Given the description of an element on the screen output the (x, y) to click on. 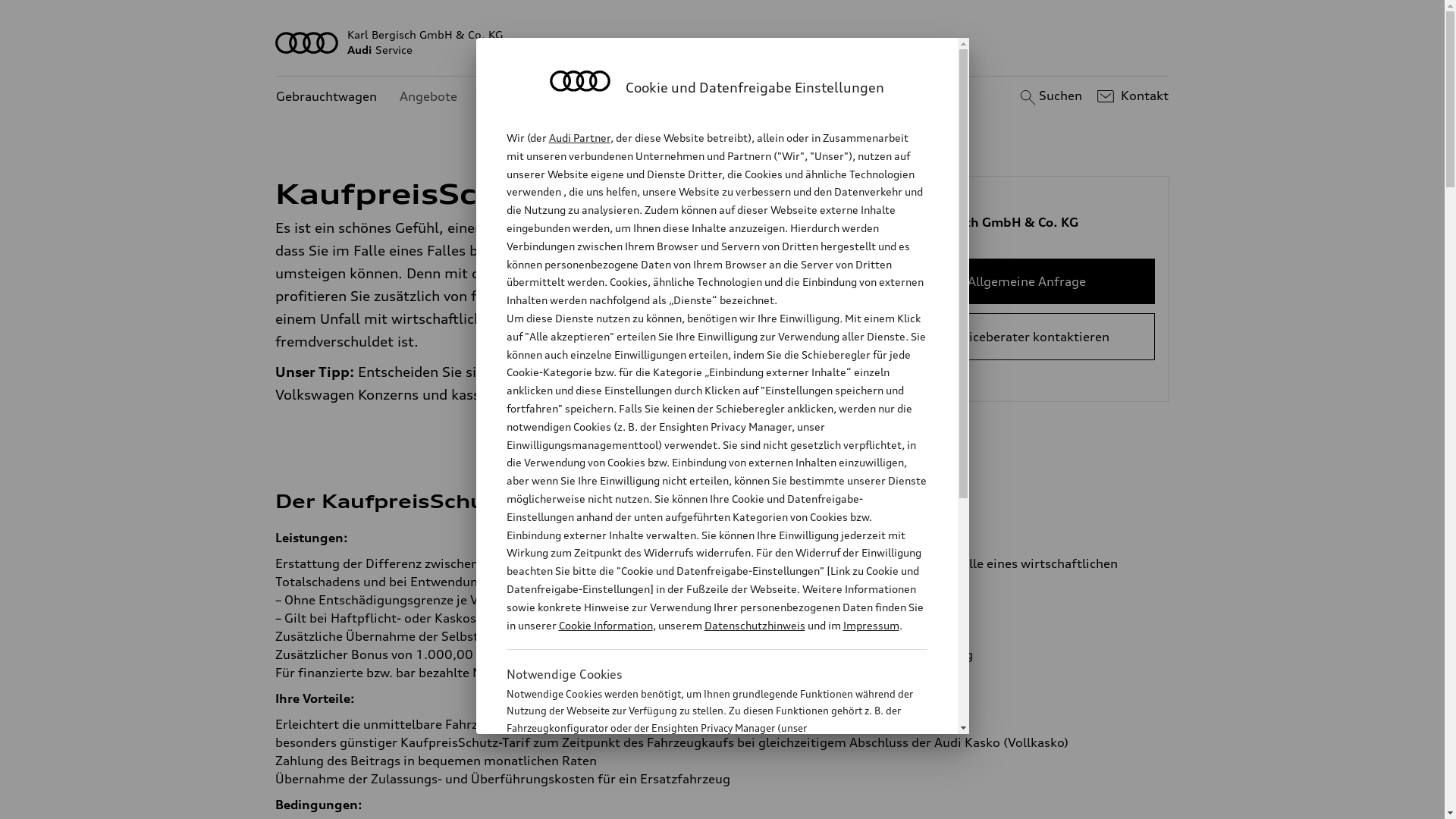
Serviceberater kontaktieren Element type: text (1025, 336)
Kontakt Element type: text (1130, 96)
Audi Partner Element type: text (579, 137)
Allgemeine Anfrage Element type: text (1025, 281)
Impressum Element type: text (871, 624)
Karl Bergisch GmbH & Co. KG
AudiService Element type: text (722, 42)
Gebrauchtwagen Element type: text (326, 96)
Angebote Element type: text (428, 96)
Datenschutzhinweis Element type: text (753, 624)
Cookie Information Element type: text (700, 802)
Kundenservice Element type: text (523, 96)
Suchen Element type: text (1049, 96)
Cookie Information Element type: text (605, 624)
